Given the description of an element on the screen output the (x, y) to click on. 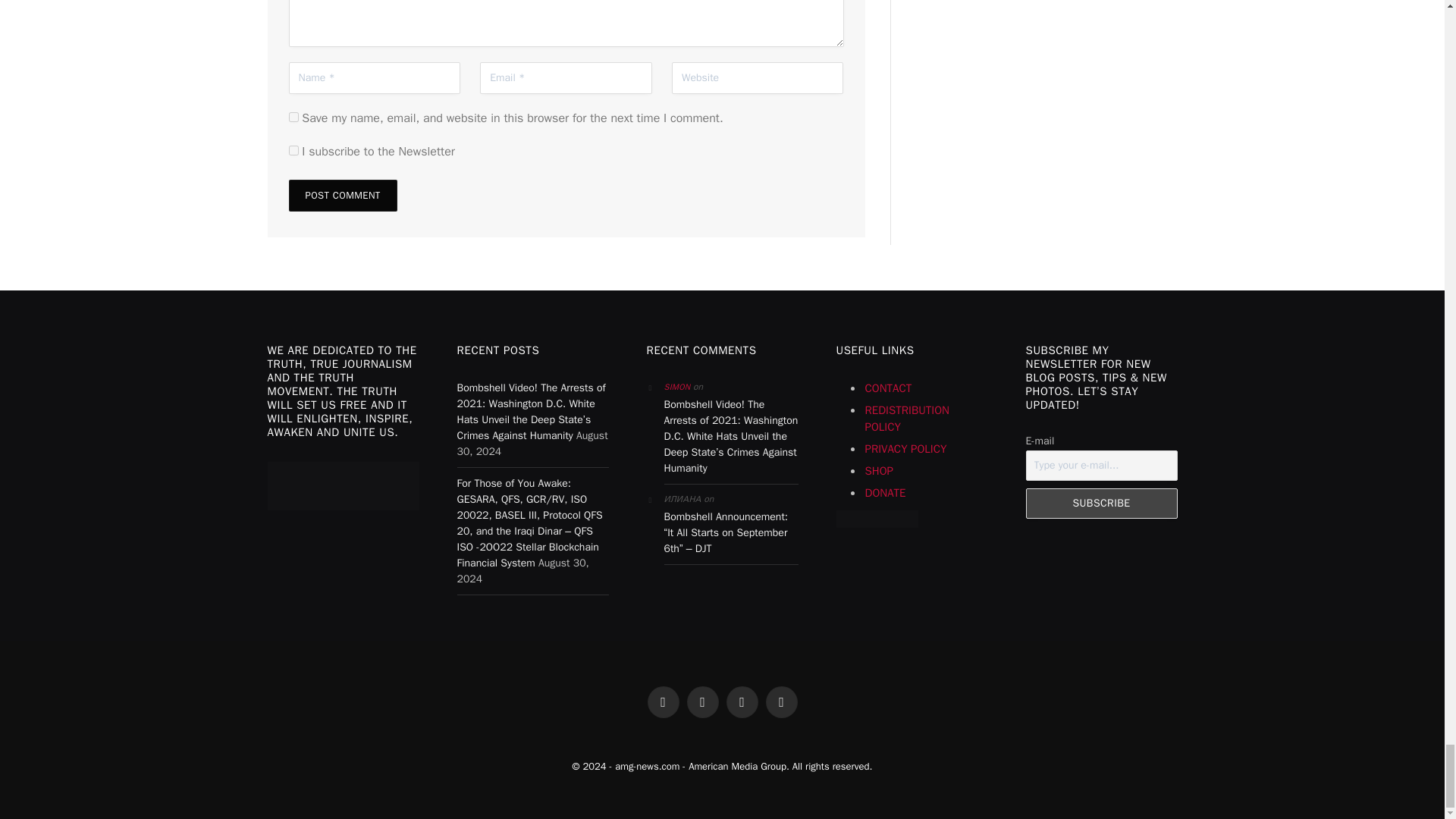
yes (293, 117)
1 (293, 150)
Subscribe (1100, 503)
Post Comment (342, 195)
